Given the description of an element on the screen output the (x, y) to click on. 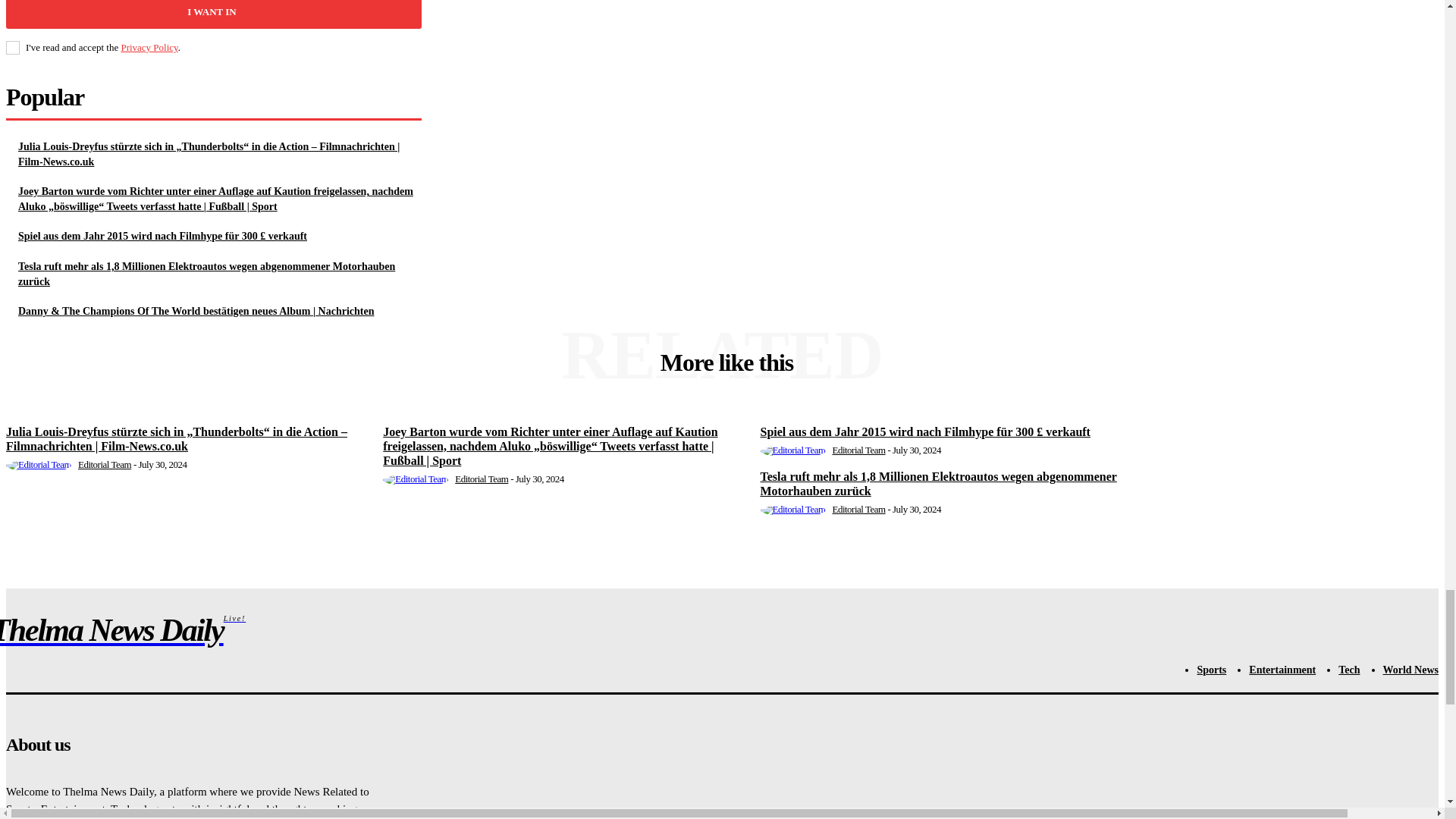
Privacy Policy (148, 47)
I WANT IN (213, 14)
